Given the description of an element on the screen output the (x, y) to click on. 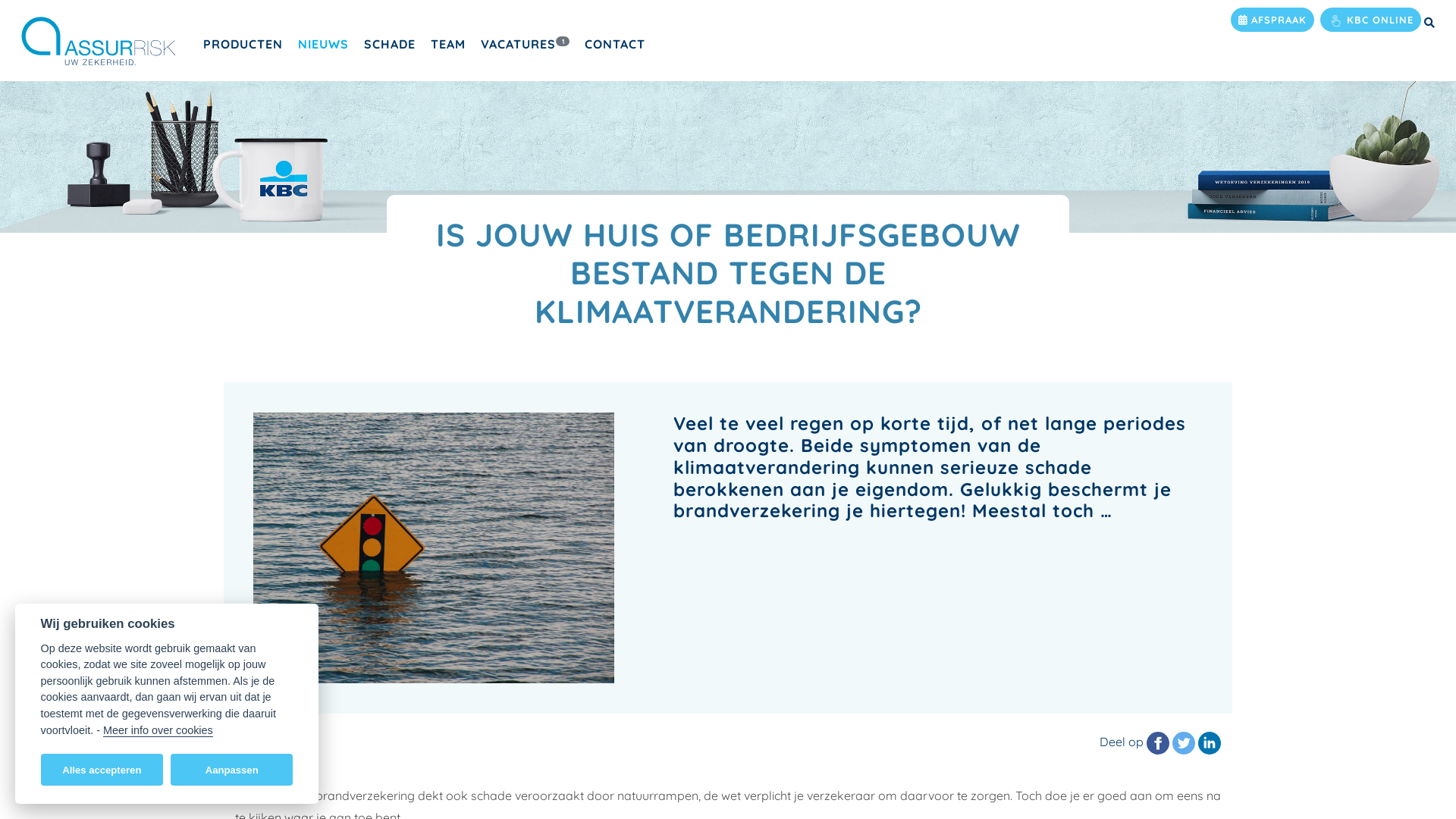
 KBC ONLINE Element type: text (1370, 19)
SCHADE Element type: text (389, 43)
CONTACT Element type: text (614, 43)
Aanpassen Element type: text (231, 769)
Alles accepteren Element type: text (101, 769)
NIEUWS Element type: text (323, 43)
Meer info over cookies Element type: text (158, 729)
VACATURES1 Element type: text (525, 43)
PRODUCTEN Element type: text (242, 43)
TEAM Element type: text (448, 43)
AFSPRAAK Element type: text (1272, 19)
